Given the description of an element on the screen output the (x, y) to click on. 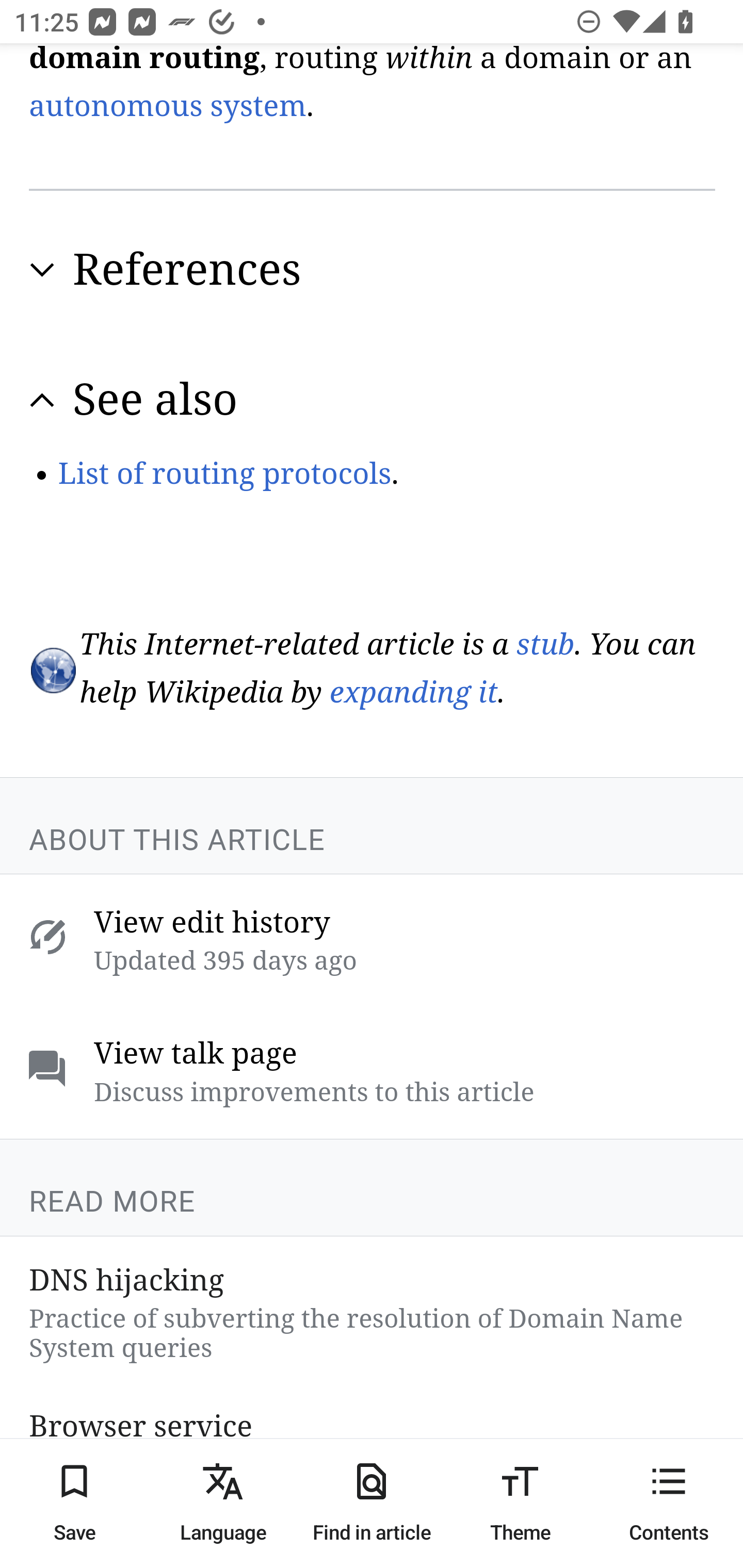
autonomous system (167, 105)
Expand section References (372, 269)
Expand section (41, 270)
Collapse section See also (372, 399)
Collapse section (41, 398)
List of routing protocols (224, 473)
stub (544, 643)
Stub icon (51, 670)
expanding it (413, 693)
Save (74, 1502)
Language (222, 1502)
Find in article (371, 1502)
Theme (519, 1502)
Contents (668, 1502)
